Given the description of an element on the screen output the (x, y) to click on. 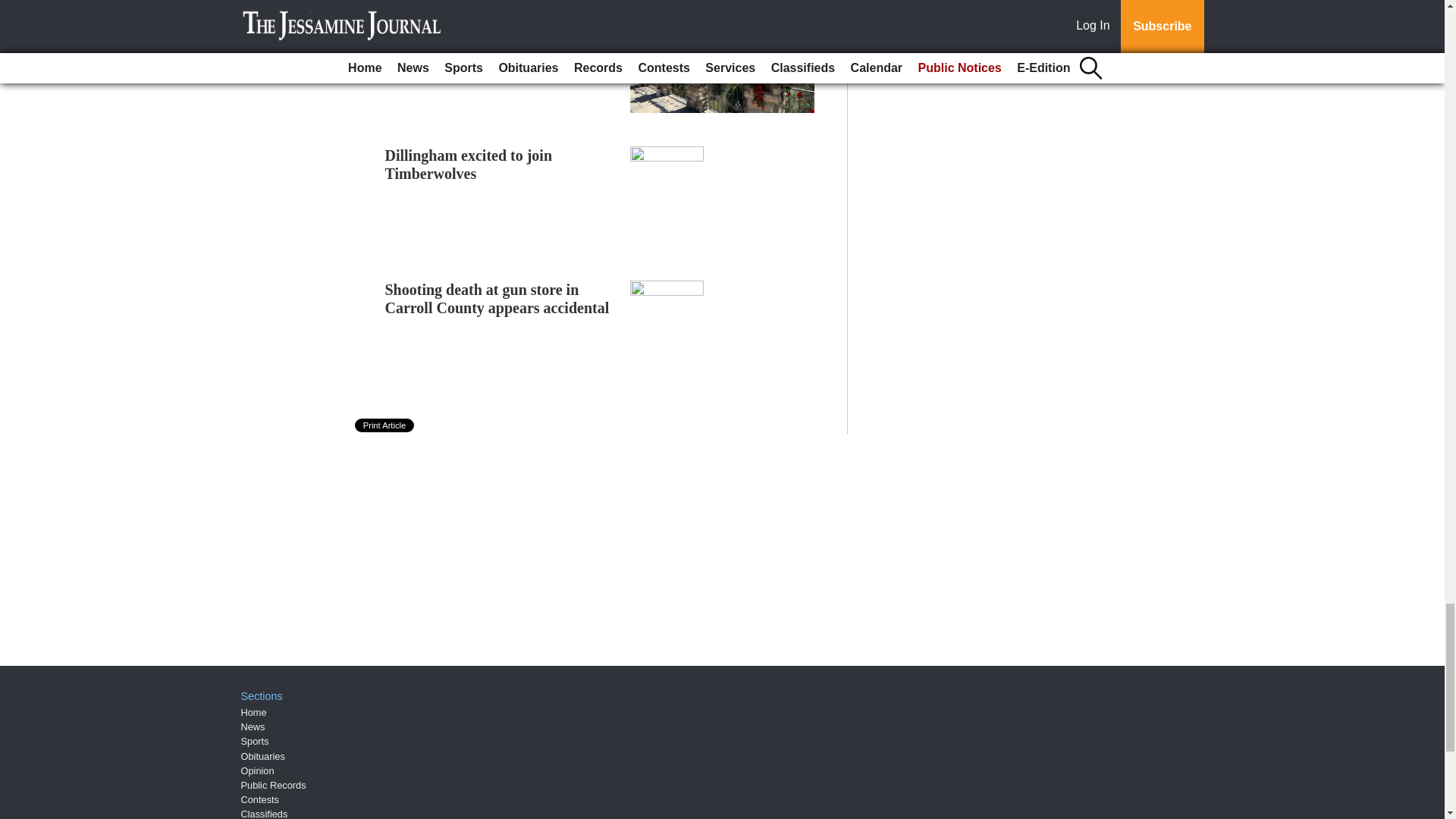
Home (253, 712)
Print Article (384, 425)
News (252, 726)
Dillingham excited to join Timberwolves  (469, 164)
